Given the description of an element on the screen output the (x, y) to click on. 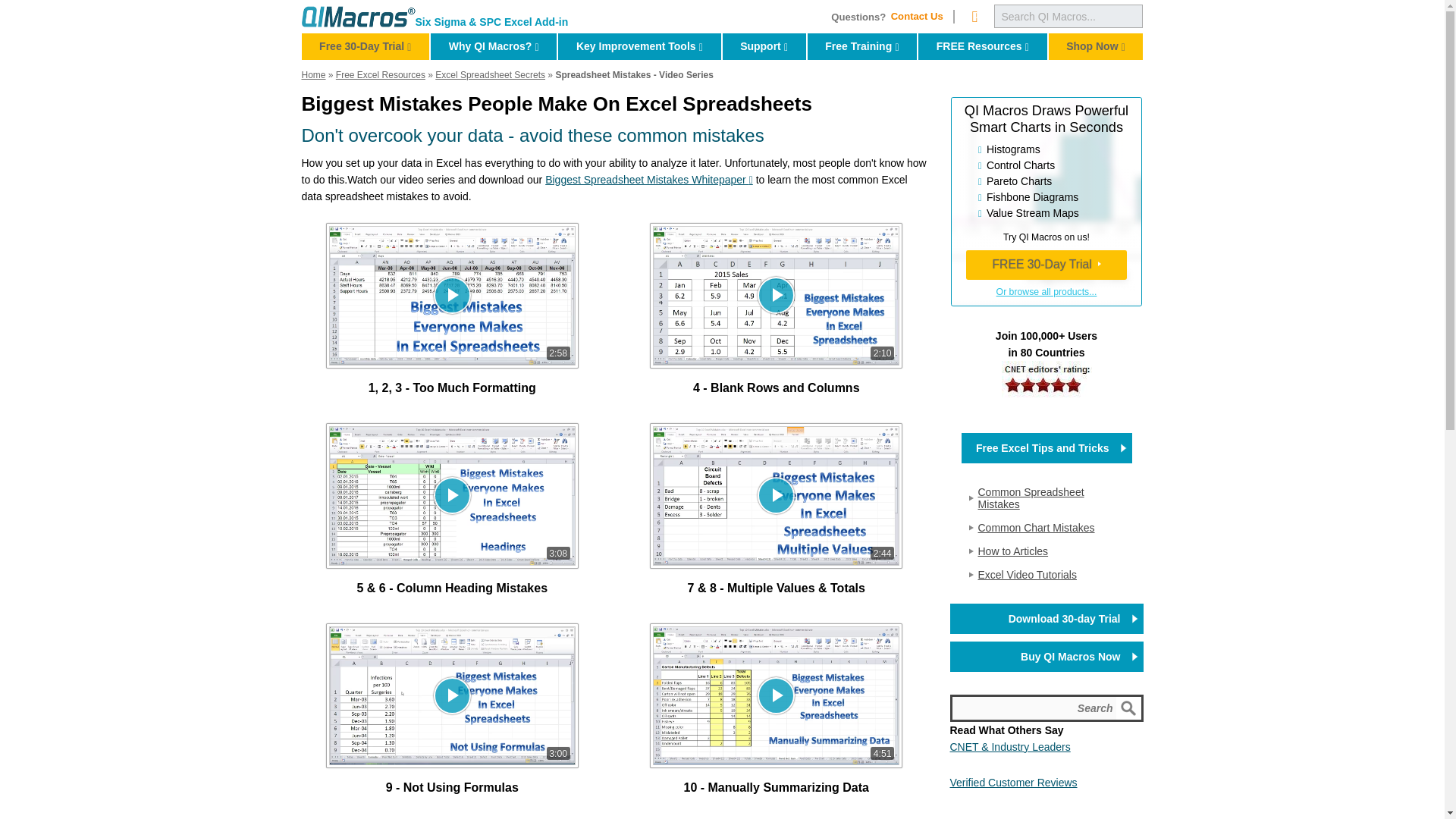
Search (1045, 707)
Home (974, 16)
GO (357, 16)
Free 30-Day Trial (1129, 707)
Cart (365, 46)
Why QI Macros? (974, 16)
Free Training (493, 46)
Key Improvement Tools (862, 46)
Contact Us (638, 46)
Support (921, 16)
